Given the description of an element on the screen output the (x, y) to click on. 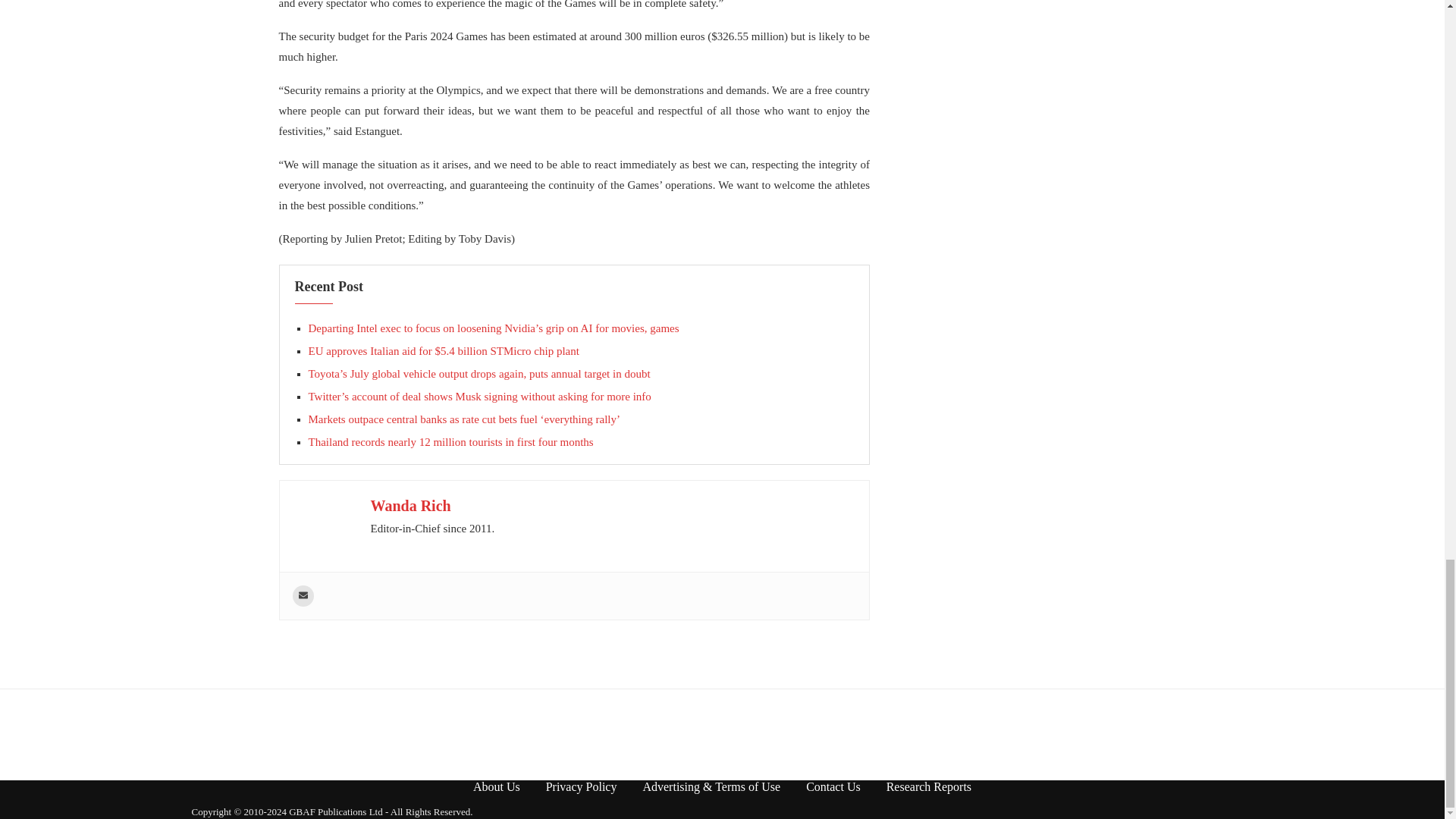
User email (303, 595)
